Given the description of an element on the screen output the (x, y) to click on. 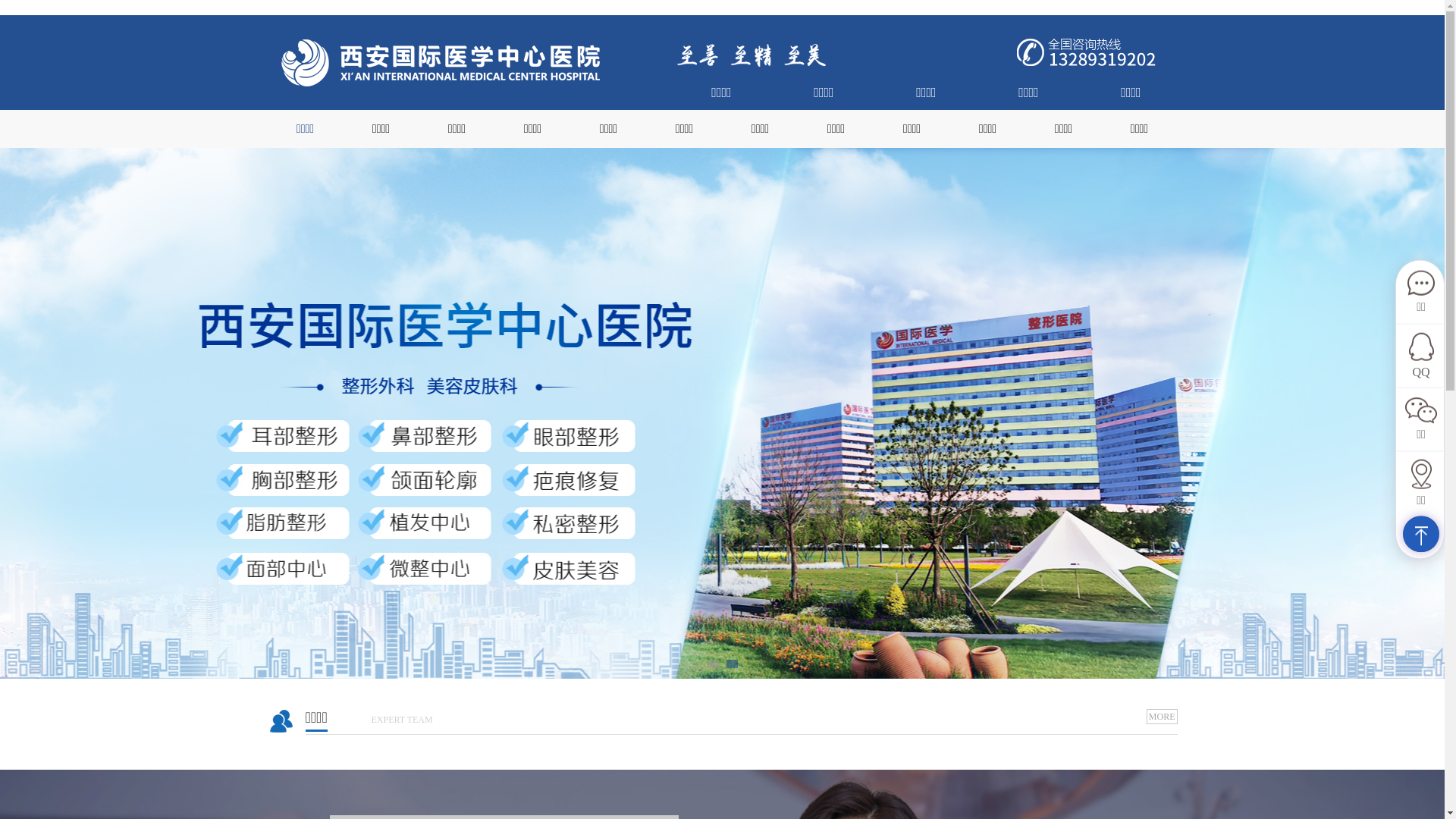
MORE Element type: text (1161, 716)
QQ Element type: text (1421, 356)
